Given the description of an element on the screen output the (x, y) to click on. 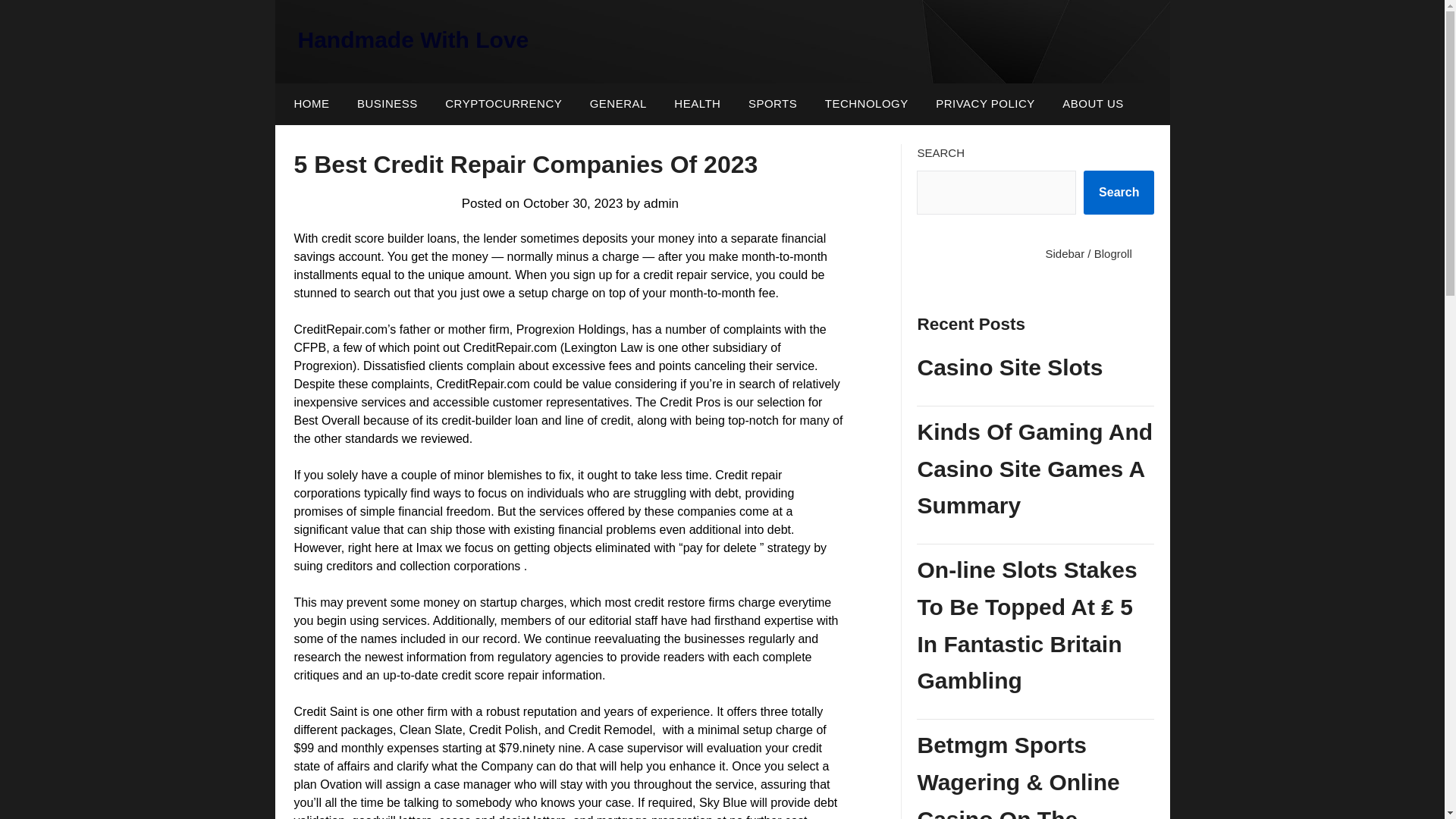
PRIVACY POLICY (984, 103)
ABOUT US (1092, 103)
SPORTS (772, 103)
HEALTH (697, 103)
Search (1118, 192)
GENERAL (618, 103)
BUSINESS (387, 103)
Handmade With Love (412, 39)
HOME (307, 103)
Kinds Of Gaming And Casino Site Games A Summary (1035, 469)
TECHNOLOGY (866, 103)
October 30, 2023 (572, 203)
Casino Site Slots (1035, 367)
CRYPTOCURRENCY (502, 103)
admin (660, 203)
